Given the description of an element on the screen output the (x, y) to click on. 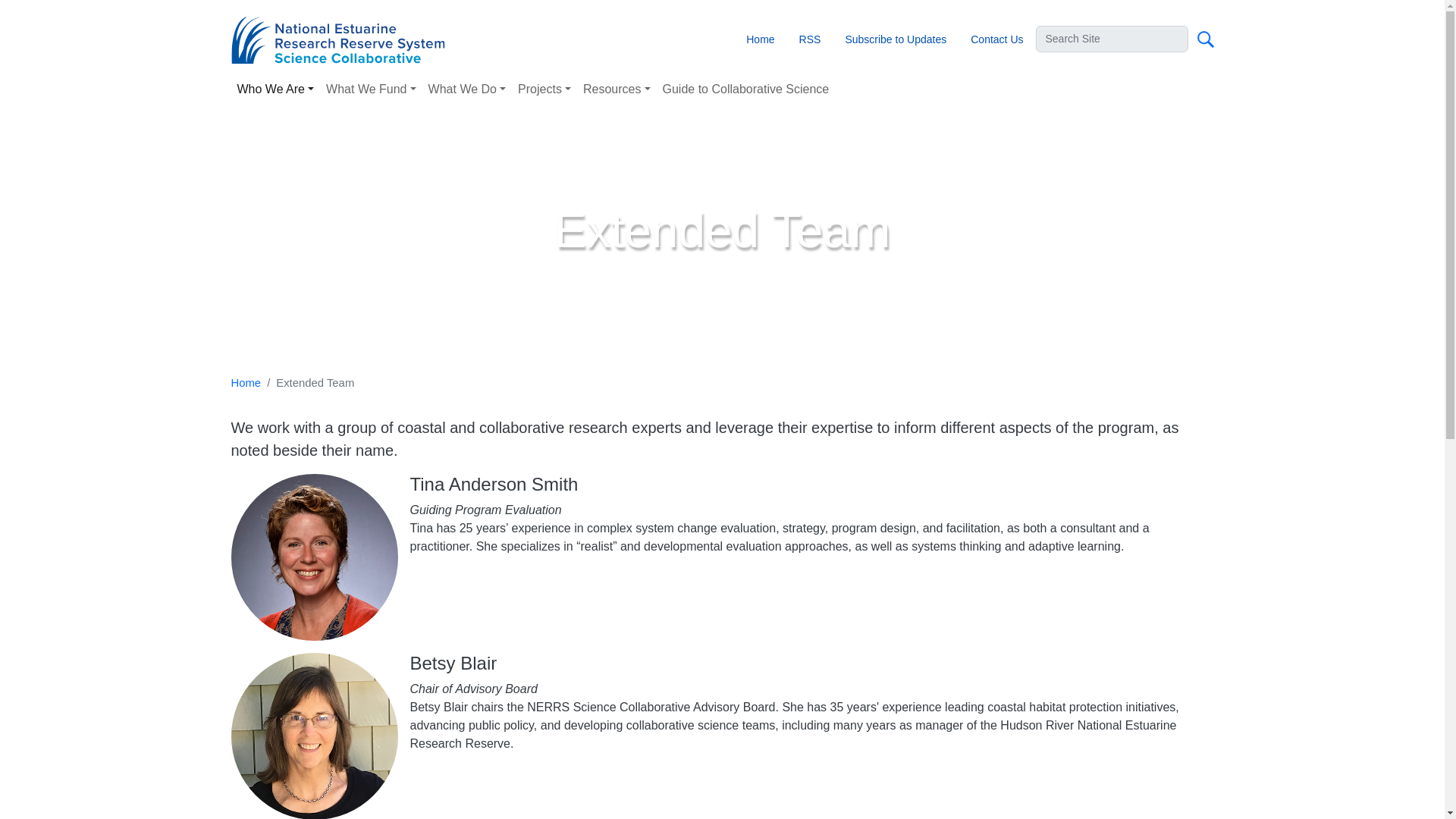
Home (344, 39)
Who We Are (275, 89)
Home (759, 39)
Subscribe to Updates (895, 39)
Apply (1205, 39)
Projects (544, 89)
What We Fund (371, 89)
RSS (809, 39)
Contact Us (996, 39)
What We Do (467, 89)
